Given the description of an element on the screen output the (x, y) to click on. 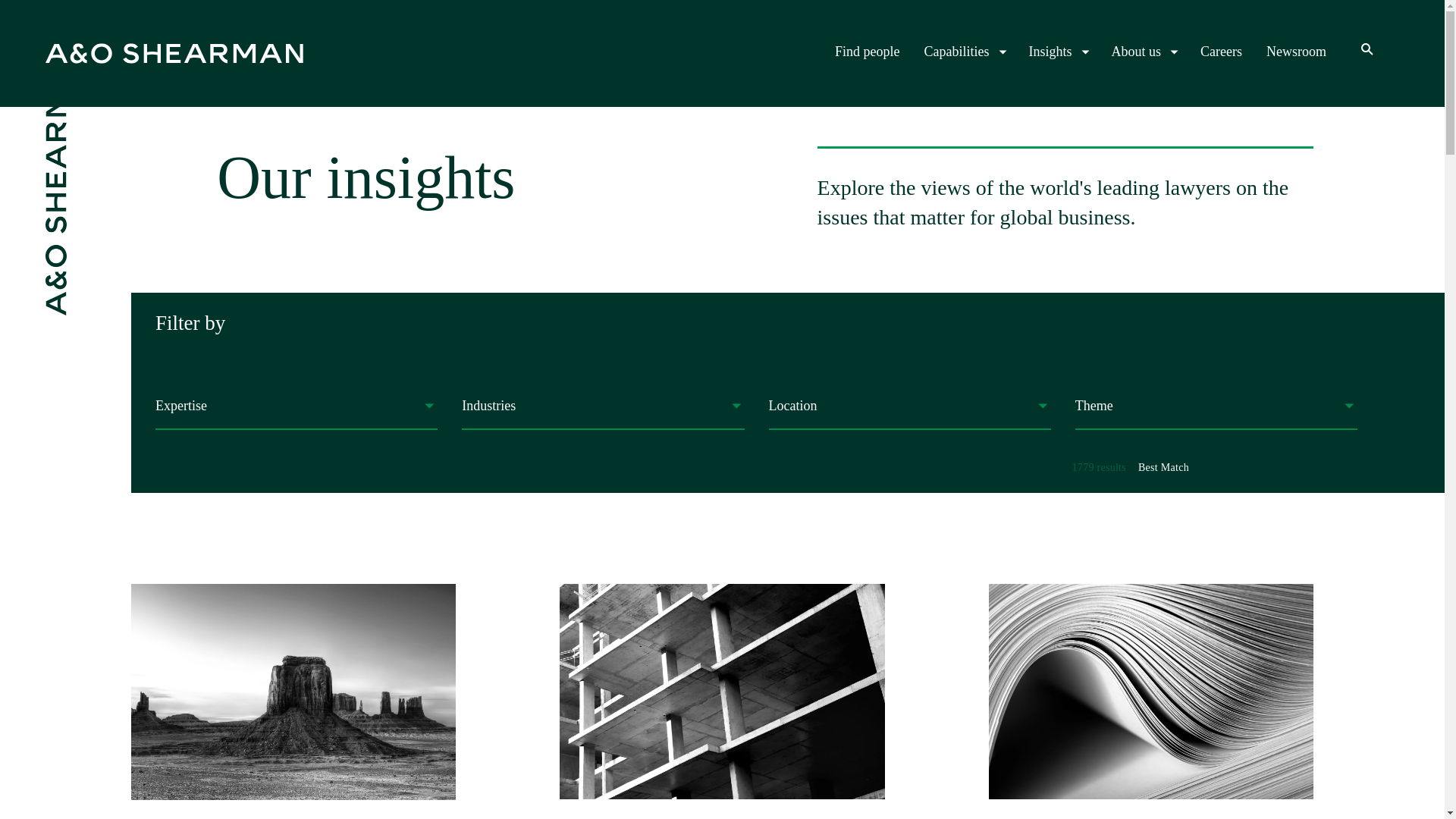
About us (1144, 51)
Insights (293, 701)
Capabilities (1056, 51)
Newsroom (964, 51)
Find people (1296, 51)
Careers (866, 51)
